Given the description of an element on the screen output the (x, y) to click on. 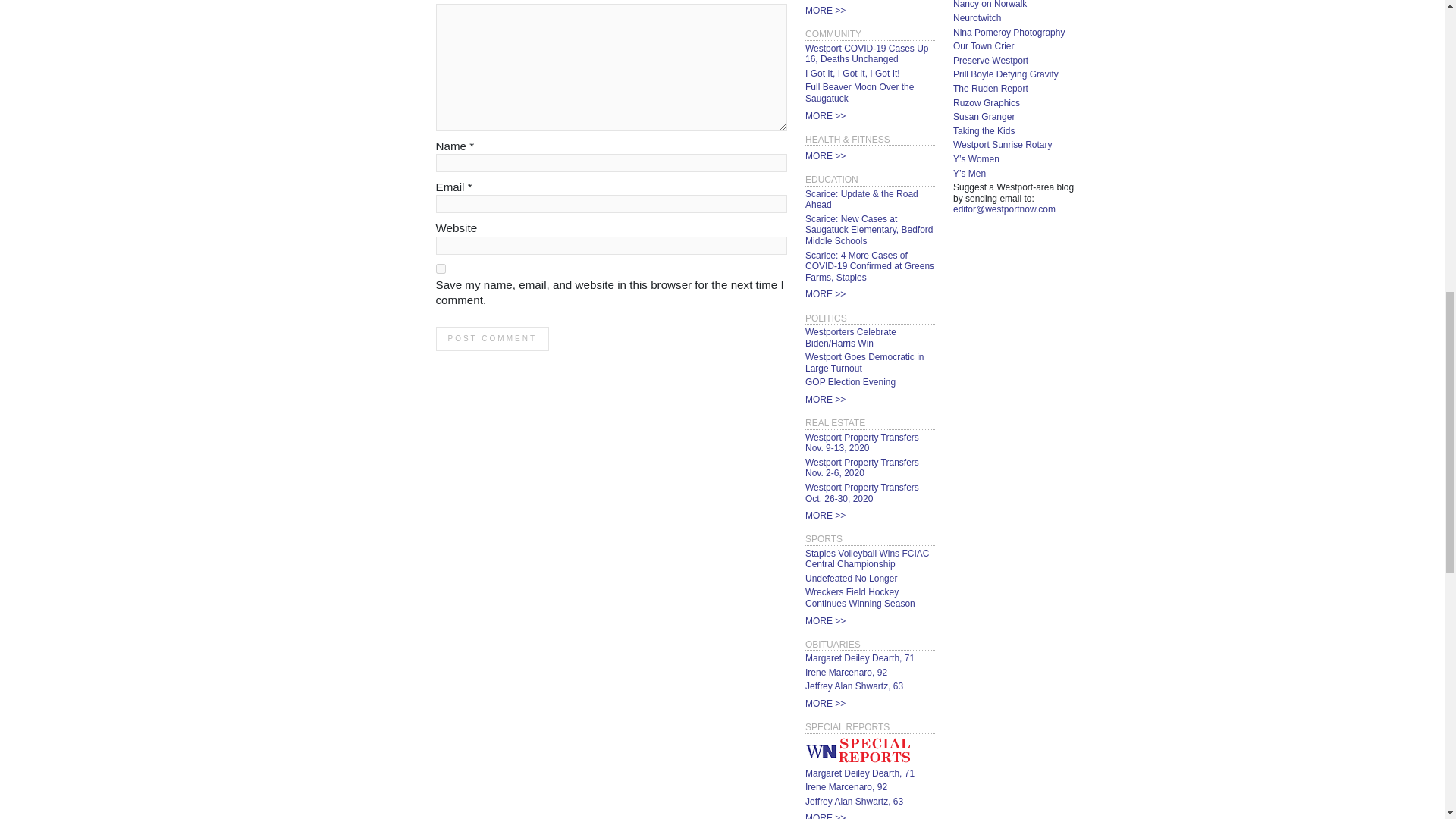
Full Beaver Moon Over the Saugatuck (859, 92)
Post Comment (491, 338)
Westport COVID-19 Cases Up 16, Deaths Unchanged (866, 54)
Post Comment (491, 338)
yes (440, 268)
I Got It, I Got It, I Got It! (852, 72)
